Given the description of an element on the screen output the (x, y) to click on. 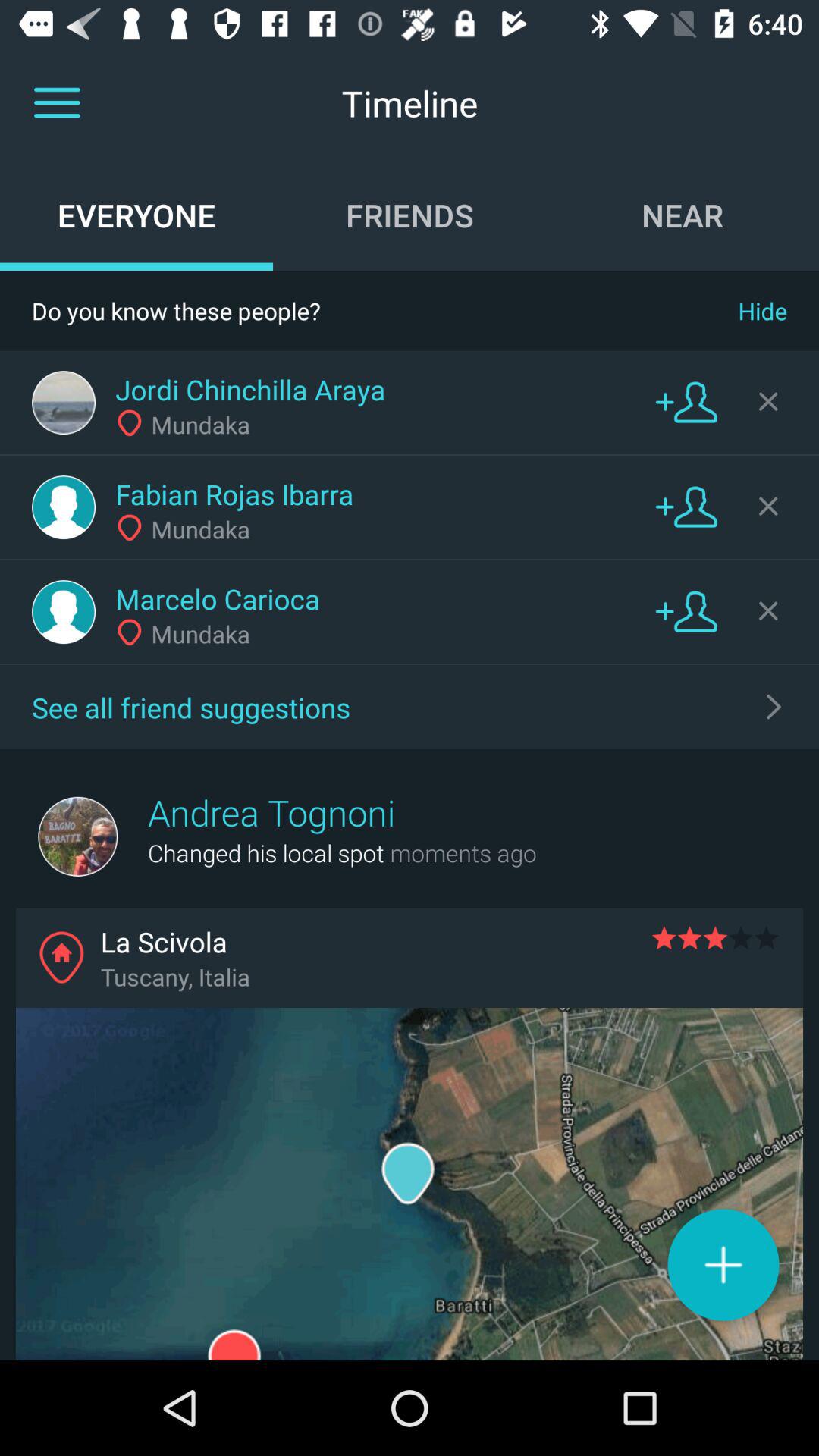
all friend suggestions (774, 706)
